Given the description of an element on the screen output the (x, y) to click on. 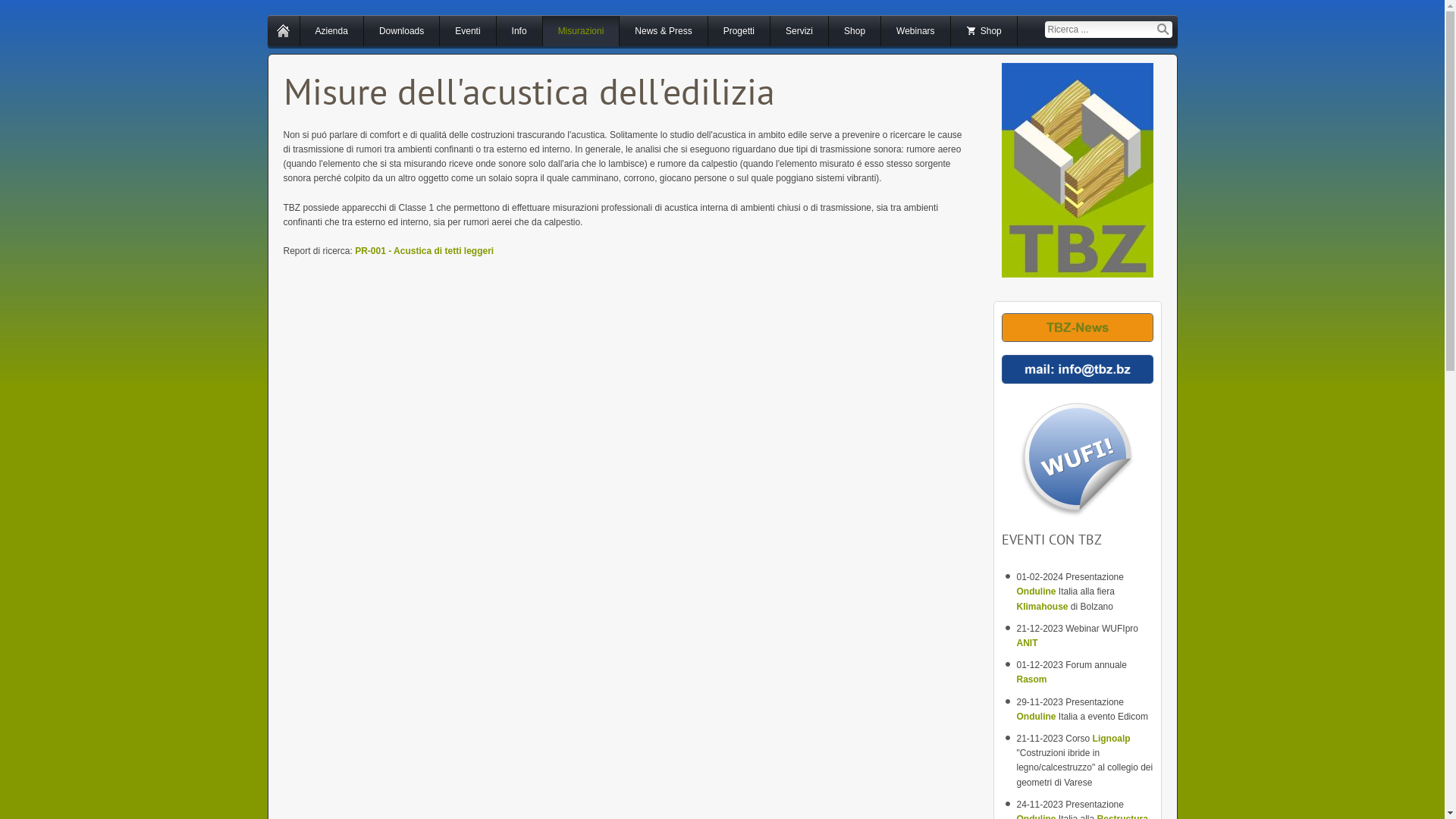
Eventi Element type: text (467, 30)
Shop Element type: text (854, 30)
Downloads Element type: text (401, 30)
Shop Element type: text (983, 30)
Lignoalp Element type: text (1111, 738)
Rasom Element type: text (1031, 679)
Azienda Element type: text (331, 30)
Servizi Element type: text (799, 30)
Info Element type: text (519, 30)
Onduline Element type: text (1036, 716)
Klimahouse Element type: text (1043, 606)
Progetti Element type: text (738, 30)
Onduline Element type: text (1036, 591)
Misurazioni Element type: text (580, 30)
News & Press Element type: text (662, 30)
ANIT Element type: text (1026, 642)
Webinars Element type: text (915, 30)
PR-001 - Acustica di tetti leggeri Element type: text (423, 250)
